Given the description of an element on the screen output the (x, y) to click on. 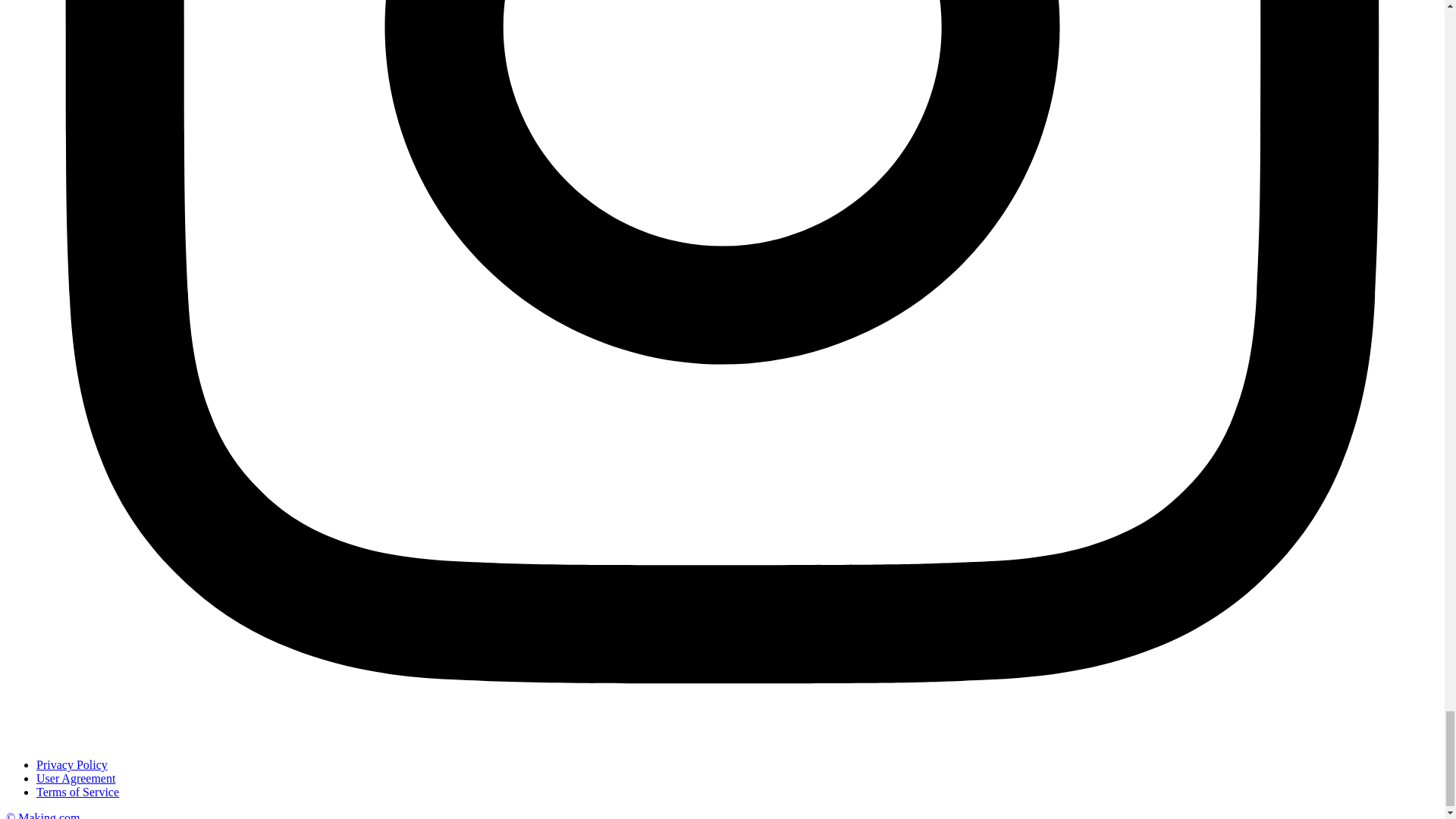
User Agreement (75, 778)
Privacy Policy (71, 764)
Terms of Service (77, 791)
